Given the description of an element on the screen output the (x, y) to click on. 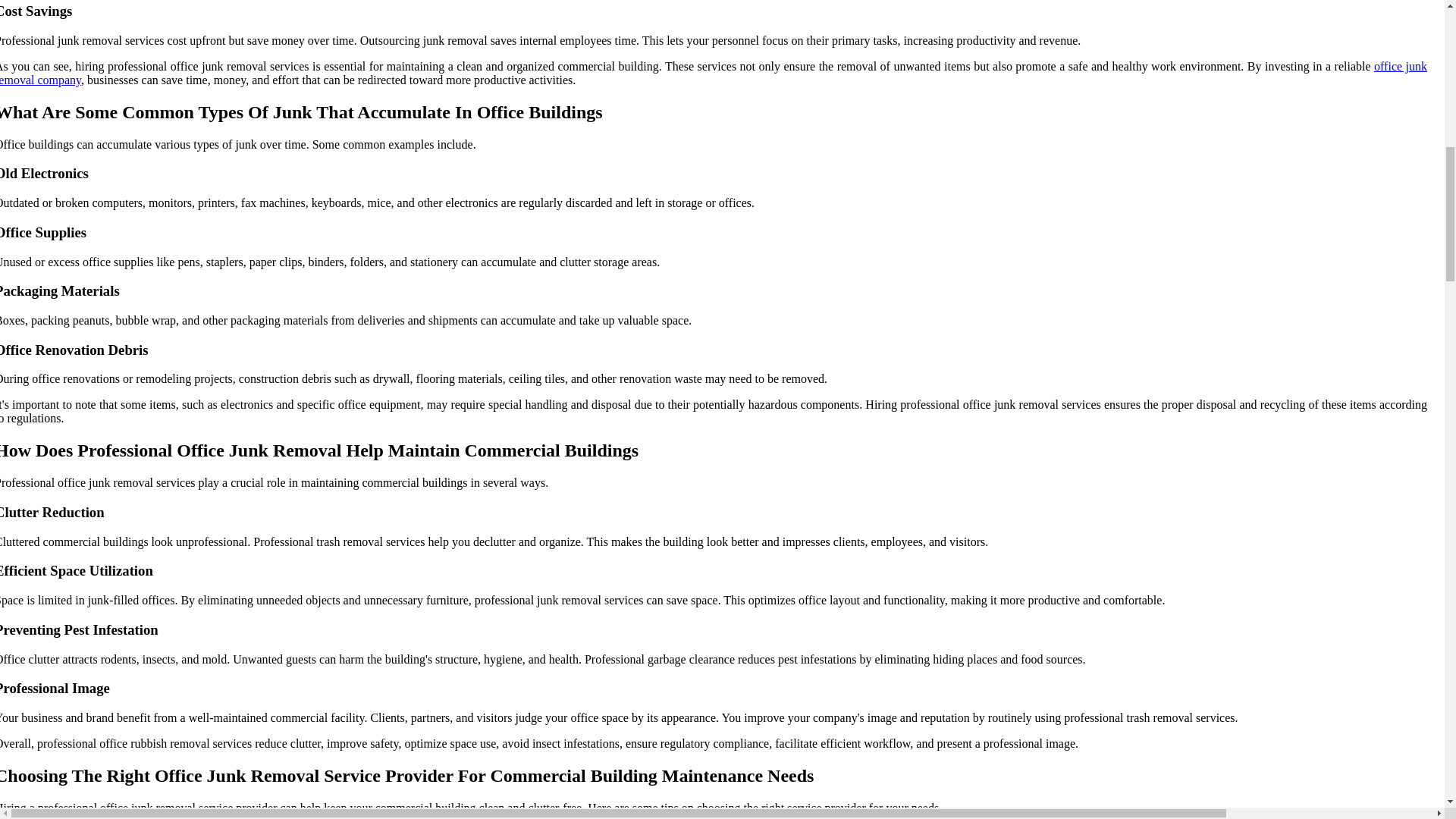
office junk removal company (713, 72)
